Given the description of an element on the screen output the (x, y) to click on. 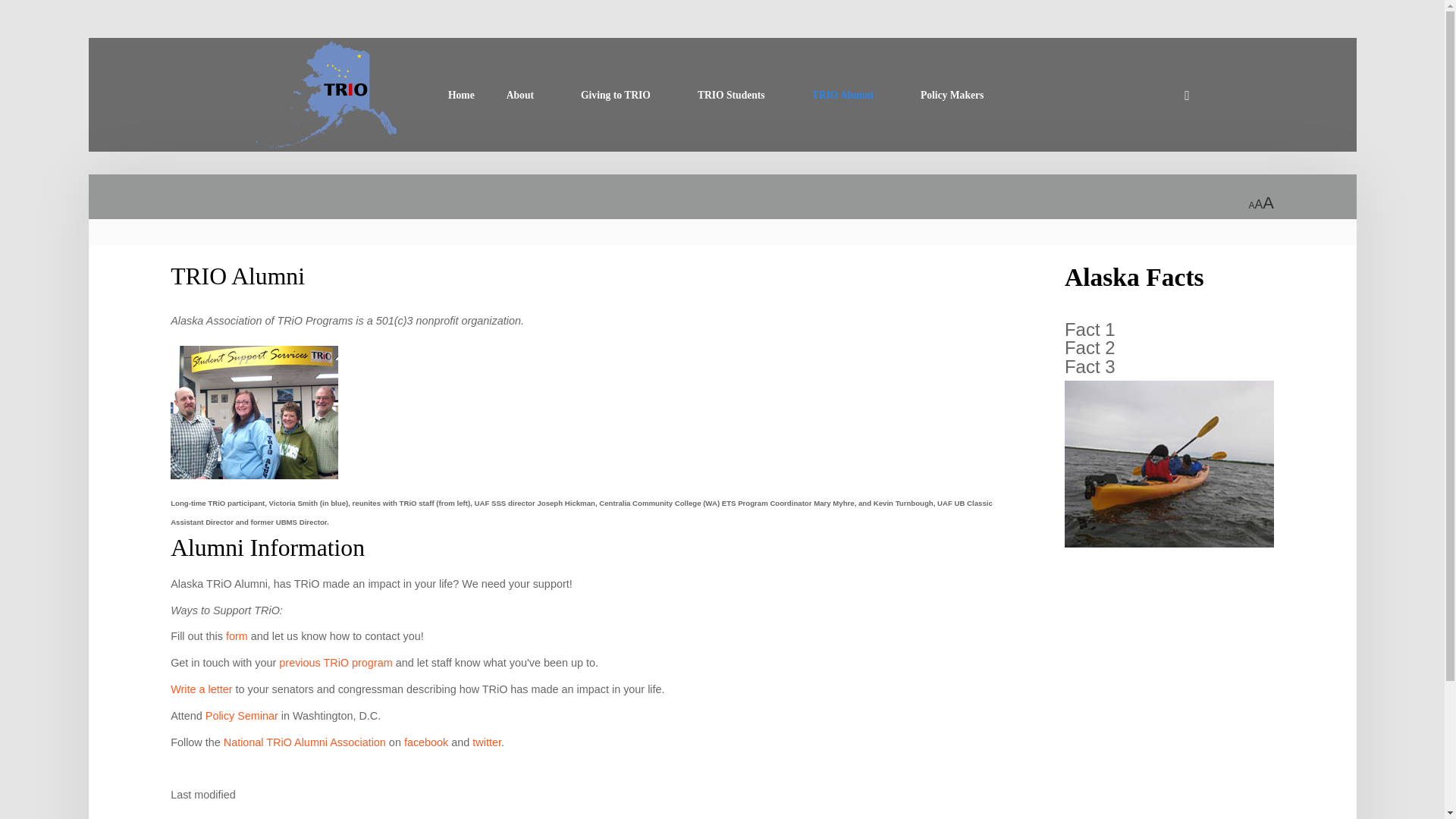
TRIO Alumni (237, 275)
form (237, 635)
TRIO Students (738, 95)
About (527, 95)
Write a letter (200, 689)
Giving to TRIO (622, 95)
previous TRiO program (335, 662)
Home (461, 95)
Policy Seminar (241, 715)
Policy Makers (959, 95)
